Given the description of an element on the screen output the (x, y) to click on. 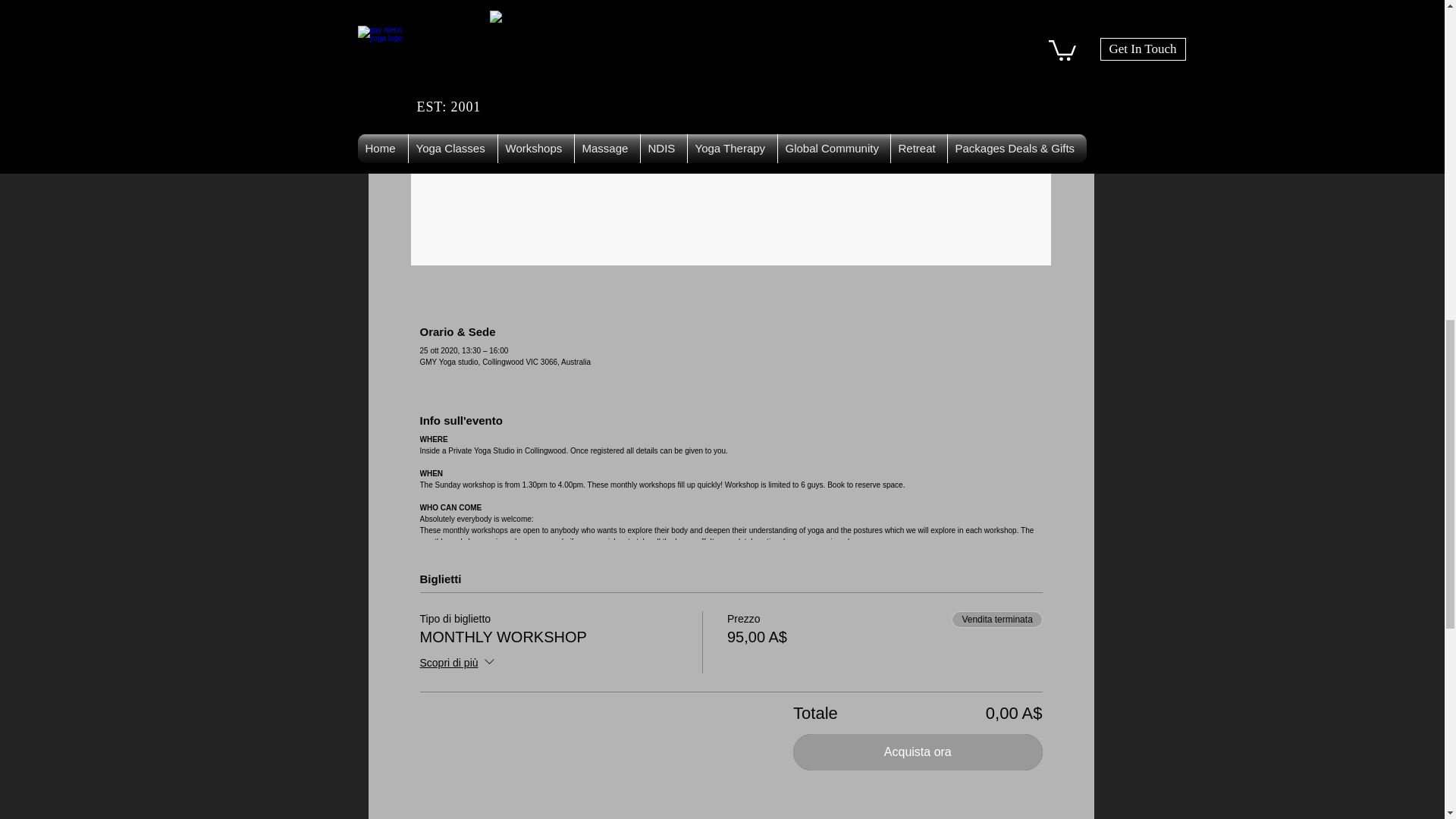
Acquista ora (917, 751)
